Given the description of an element on the screen output the (x, y) to click on. 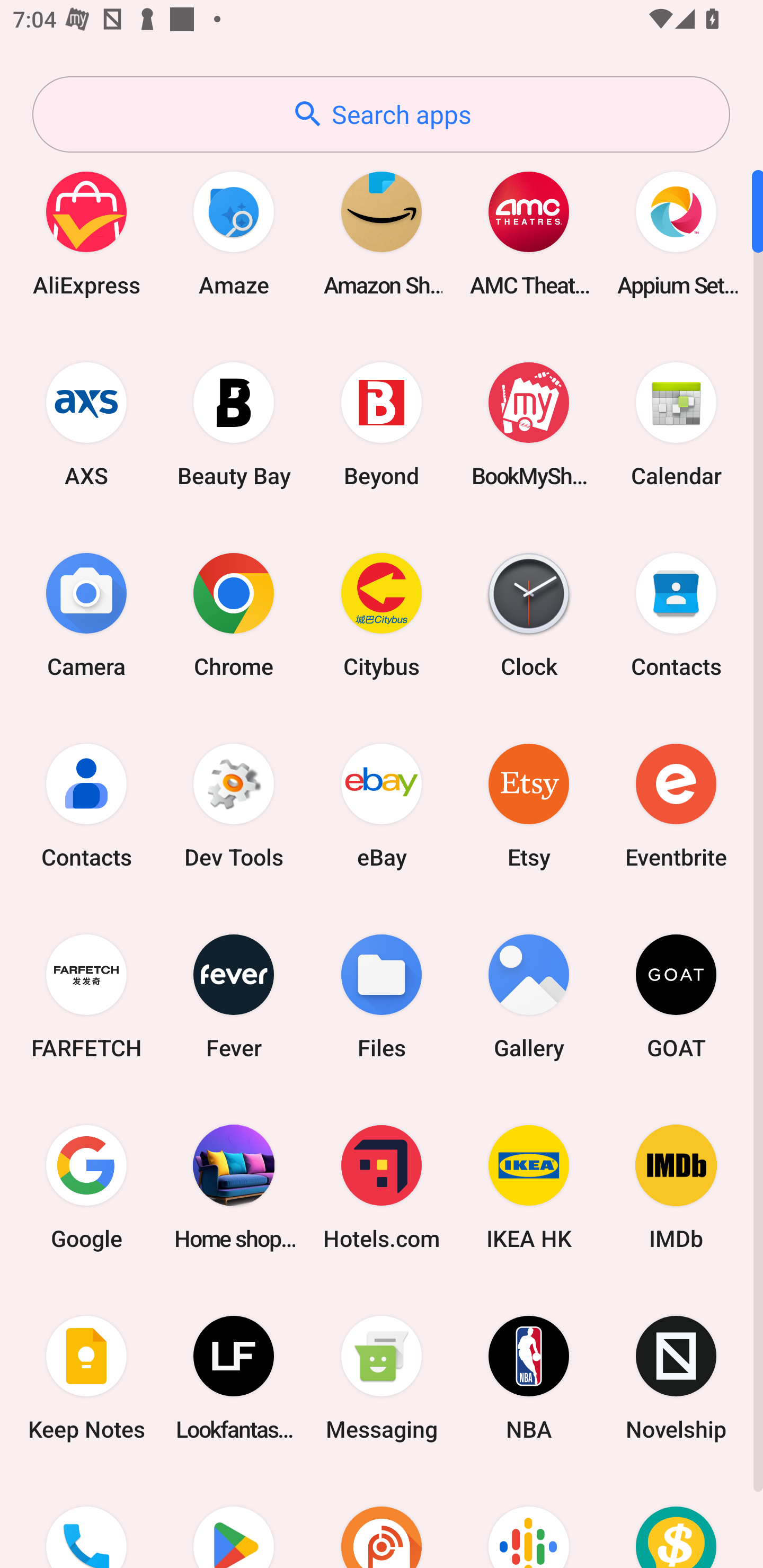
  Search apps (381, 114)
AliExpress (86, 233)
Amaze (233, 233)
Amazon Shopping (381, 233)
AMC Theatres (528, 233)
Appium Settings (676, 233)
AXS (86, 424)
Beauty Bay (233, 424)
Beyond (381, 424)
BookMyShow (528, 424)
Calendar (676, 424)
Camera (86, 614)
Chrome (233, 614)
Citybus (381, 614)
Clock (528, 614)
Contacts (676, 614)
Contacts (86, 805)
Dev Tools (233, 805)
eBay (381, 805)
Etsy (528, 805)
Eventbrite (676, 805)
FARFETCH (86, 996)
Fever (233, 996)
Files (381, 996)
Gallery (528, 996)
GOAT (676, 996)
Google (86, 1186)
Home shopping (233, 1186)
Hotels.com (381, 1186)
IKEA HK (528, 1186)
IMDb (676, 1186)
Keep Notes (86, 1377)
Lookfantastic (233, 1377)
Messaging (381, 1377)
NBA (528, 1377)
Novelship (676, 1377)
Phone (86, 1520)
Play Store (233, 1520)
Podcast Addict (381, 1520)
Podcasts (528, 1520)
Price (676, 1520)
